Given the description of an element on the screen output the (x, y) to click on. 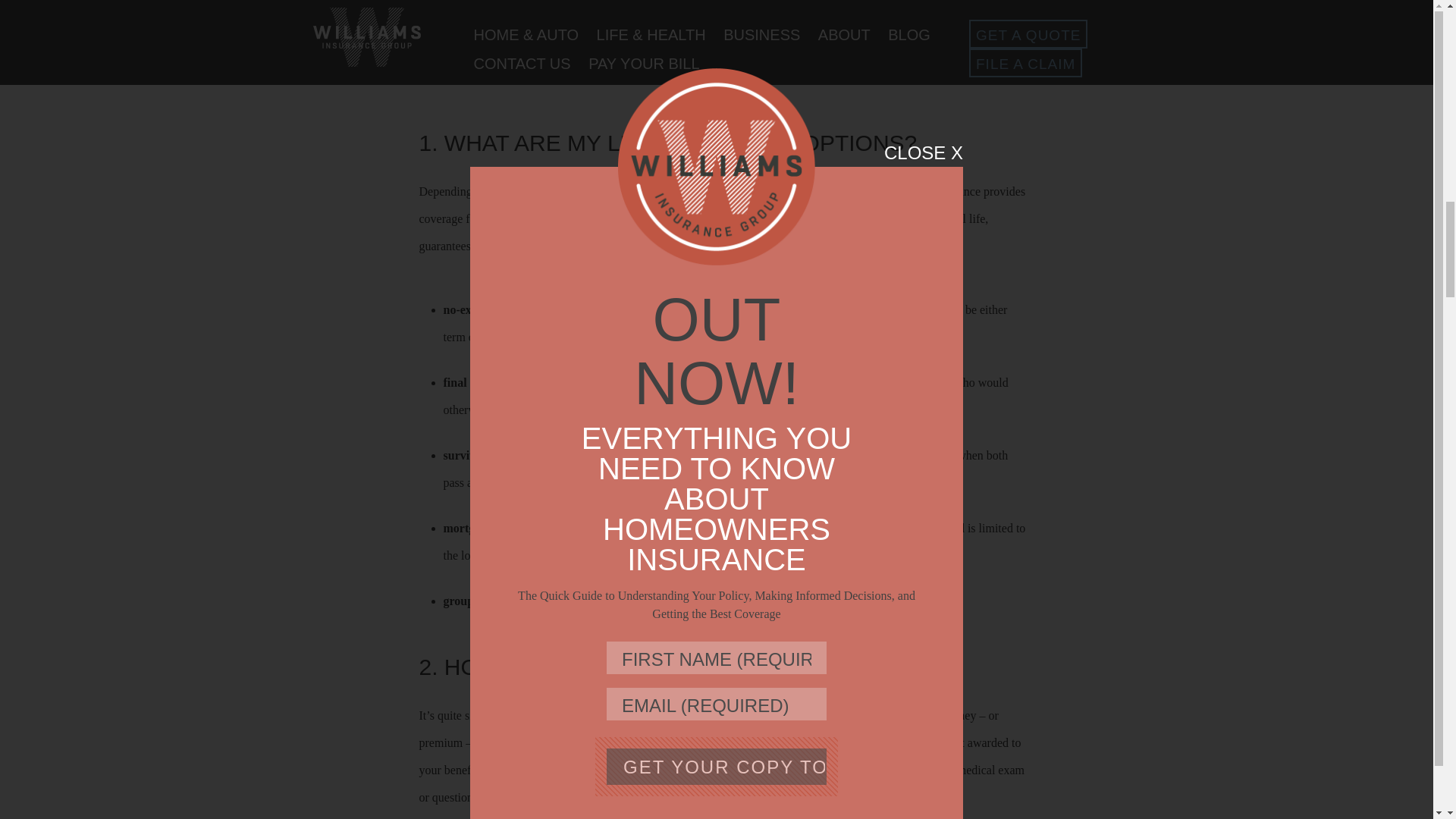
Are life insurance premiums tax-deductible? (550, 6)
Does vaping raise my insurance rates? (535, 76)
